Given the description of an element on the screen output the (x, y) to click on. 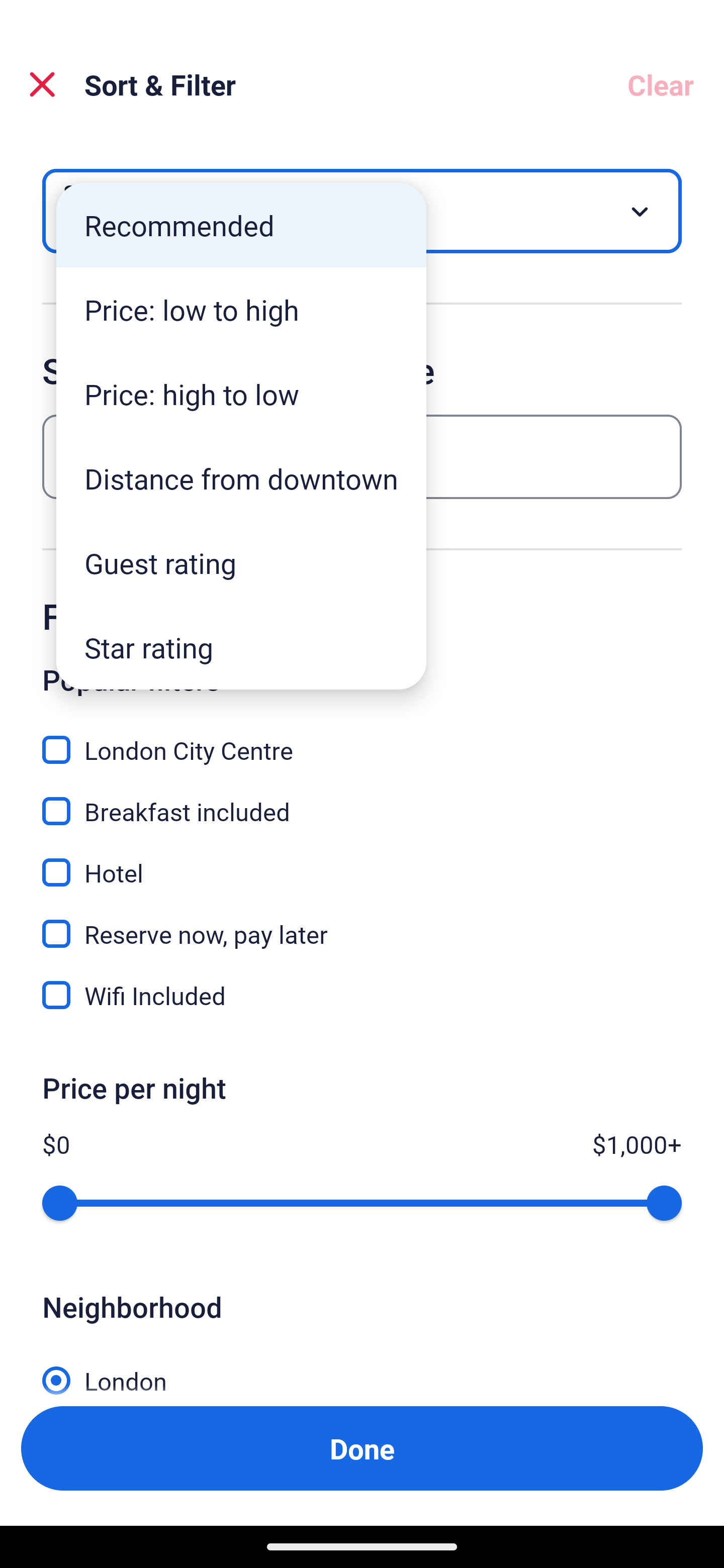
Price: low to high (241, 309)
Price: high to low (241, 393)
Distance from downtown (241, 477)
Guest rating (241, 562)
Star rating (241, 647)
